Given the description of an element on the screen output the (x, y) to click on. 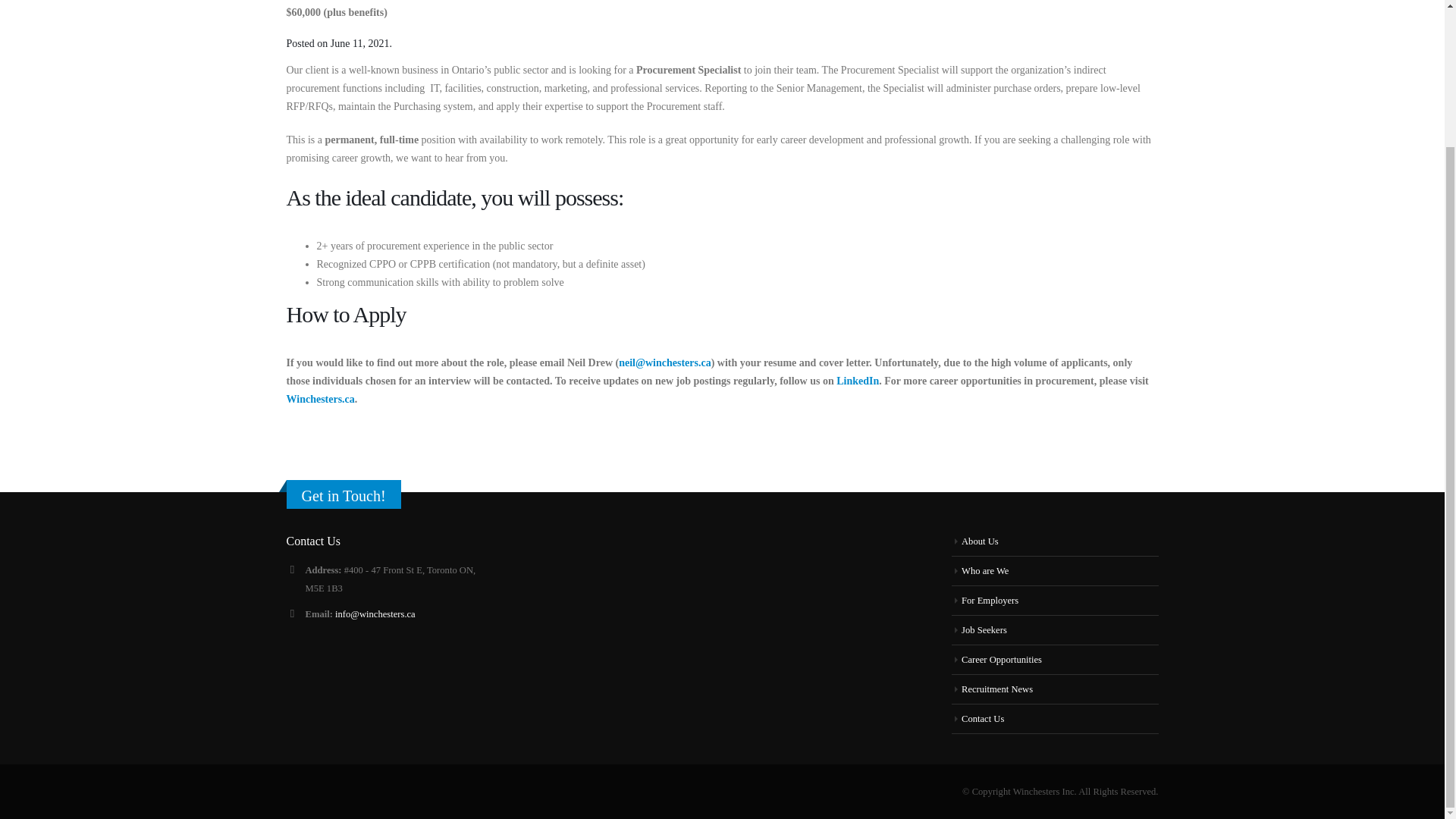
Who are We (984, 570)
Winchesters.ca (320, 398)
Get in Touch! (343, 495)
LinkedIn (857, 380)
For Employers (988, 600)
Job Seekers (983, 629)
Career Opportunities (1001, 659)
Contact Us (982, 718)
About Us (979, 541)
Recruitment News (996, 688)
